Given the description of an element on the screen output the (x, y) to click on. 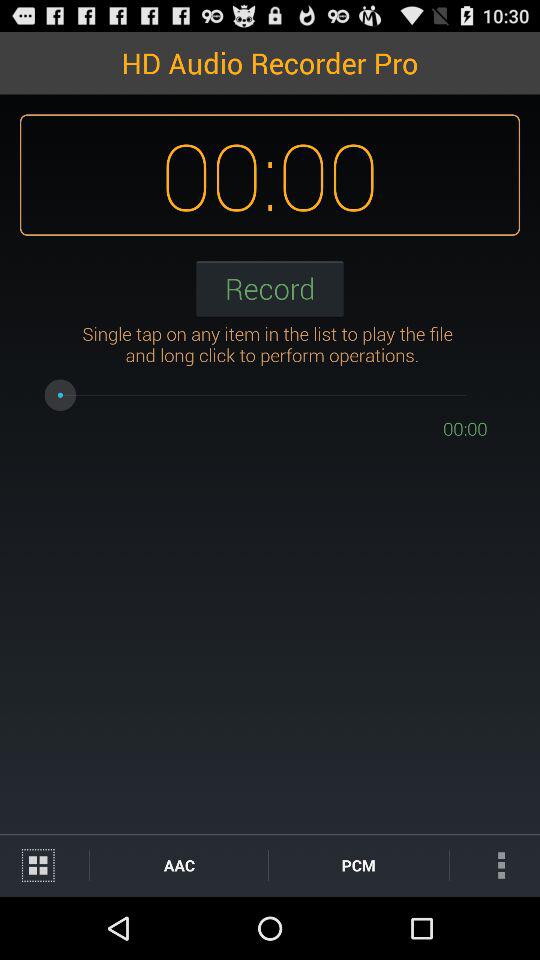
view menu (44, 865)
